Given the description of an element on the screen output the (x, y) to click on. 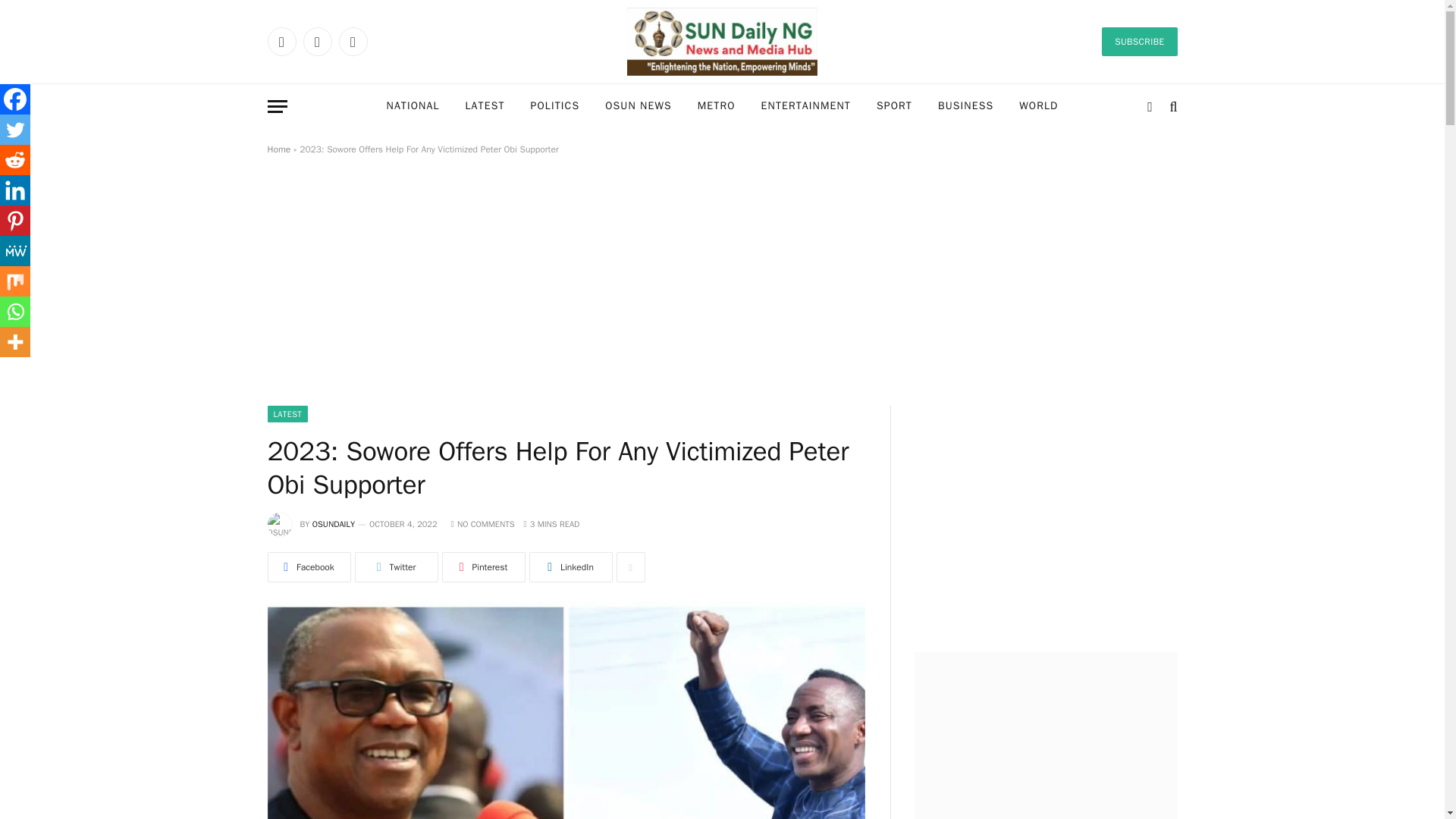
SPORT (893, 106)
LATEST (286, 413)
ENTERTAINMENT (805, 106)
SUBSCRIBE (1139, 41)
BUSINESS (965, 106)
LATEST (483, 106)
WORLD (1038, 106)
Instagram (351, 41)
METRO (716, 106)
OSUNDAILY (334, 523)
Show More Social Sharing (630, 567)
Home (277, 149)
OsunDailyNG (721, 41)
POLITICS (555, 106)
